Given the description of an element on the screen output the (x, y) to click on. 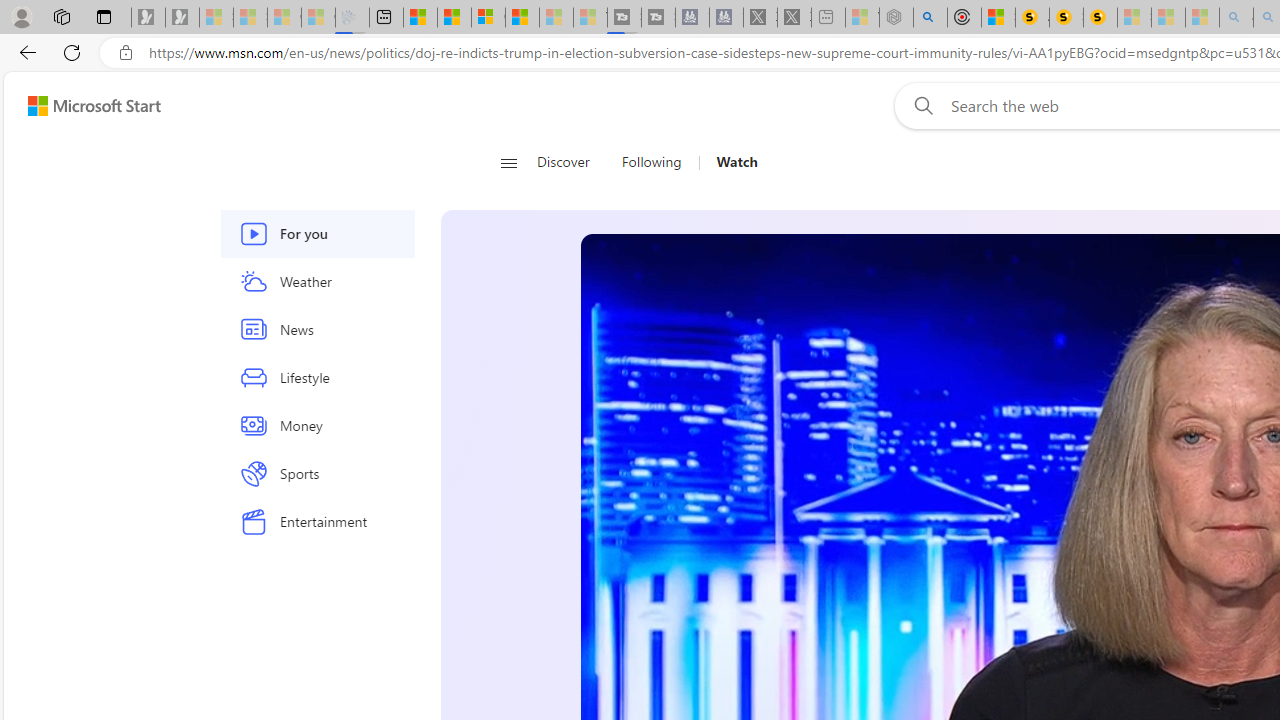
Microsoft Start - Sleeping (556, 17)
Watch (729, 162)
Open navigation menu (508, 162)
Overview (488, 17)
amazon - Search - Sleeping (1236, 17)
X - Sleeping (794, 17)
